Given the description of an element on the screen output the (x, y) to click on. 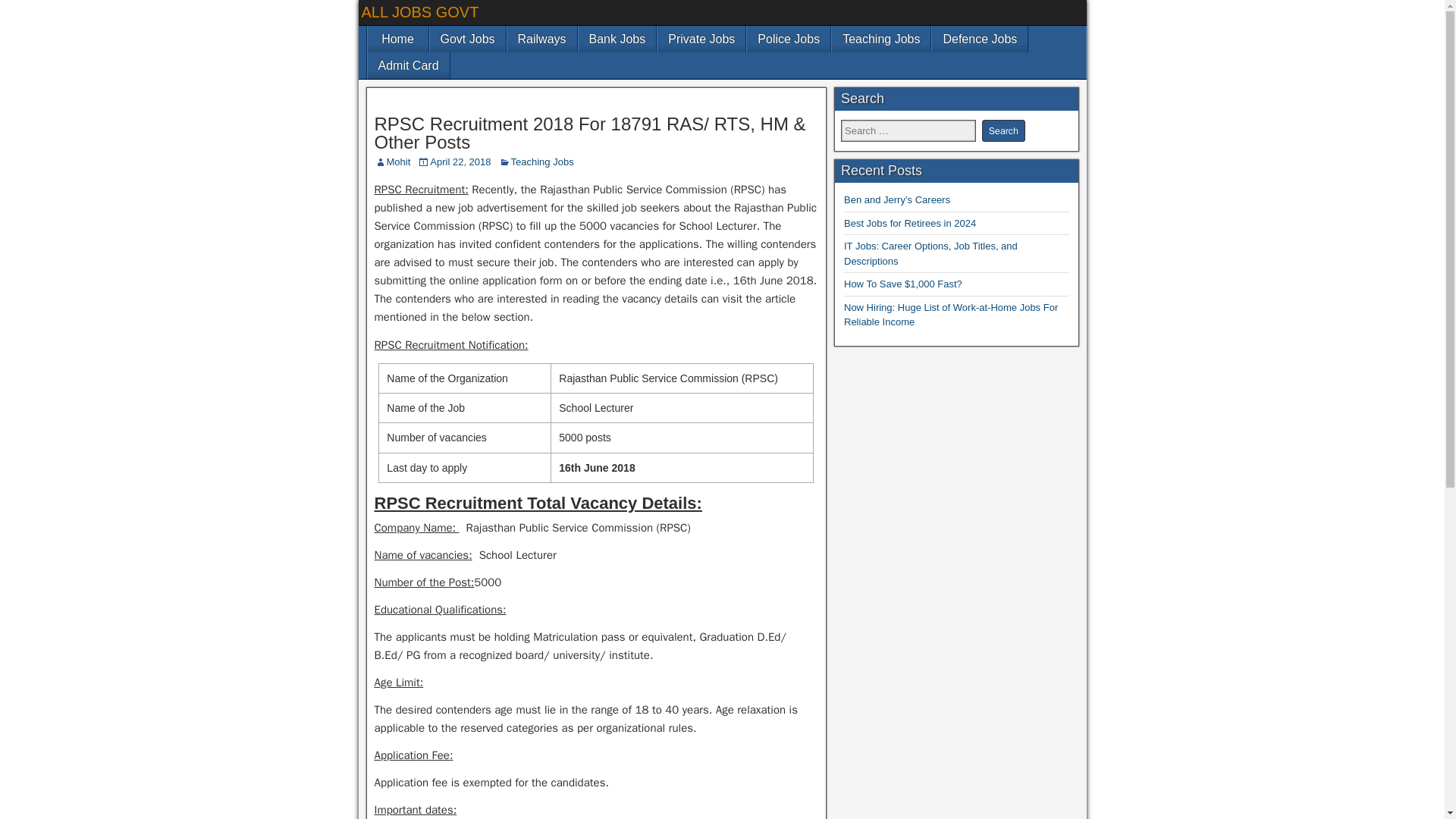
Search (1003, 130)
Private Jobs (701, 38)
Defence Jobs (979, 38)
IT Jobs: Career Options, Job Titles, and Descriptions (930, 253)
Search (1003, 130)
Home (397, 38)
Teaching Jobs (880, 38)
Admit Card (407, 65)
Govt Jobs (467, 38)
Best Jobs for Retirees in 2024 (909, 223)
Search (1003, 130)
Bank Jobs (617, 38)
Teaching Jobs (542, 161)
Mohit (398, 161)
